Given the description of an element on the screen output the (x, y) to click on. 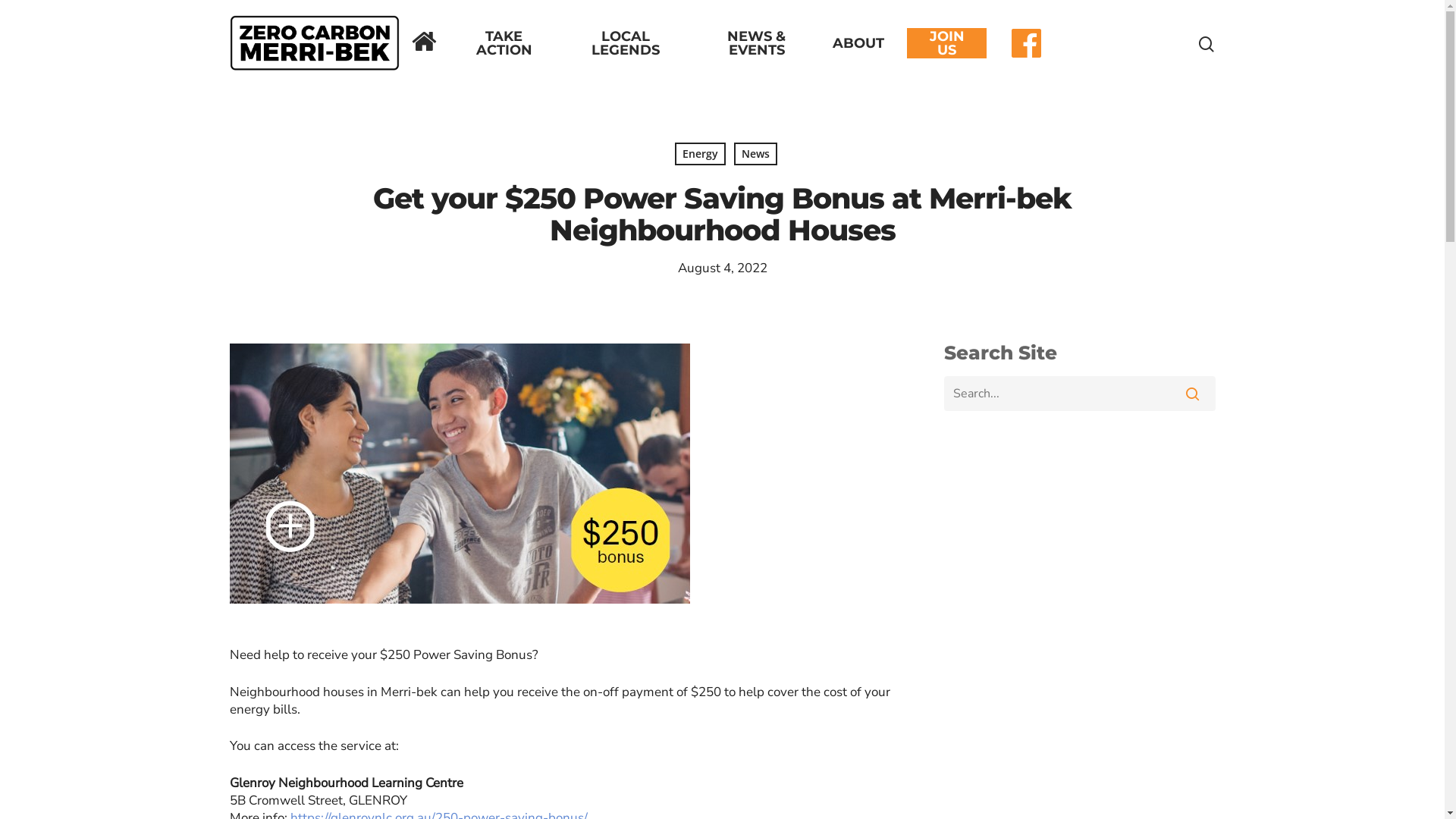
News Element type: text (755, 153)
Search for: Element type: hover (1079, 393)
Energy Element type: text (699, 153)
ABOUT Element type: text (858, 43)
TAKE ACTION Element type: text (503, 42)
NEWS & EVENTS Element type: text (756, 42)
JOIN US Element type: text (946, 42)
LOCAL LEGENDS Element type: text (624, 42)
